Given the description of an element on the screen output the (x, y) to click on. 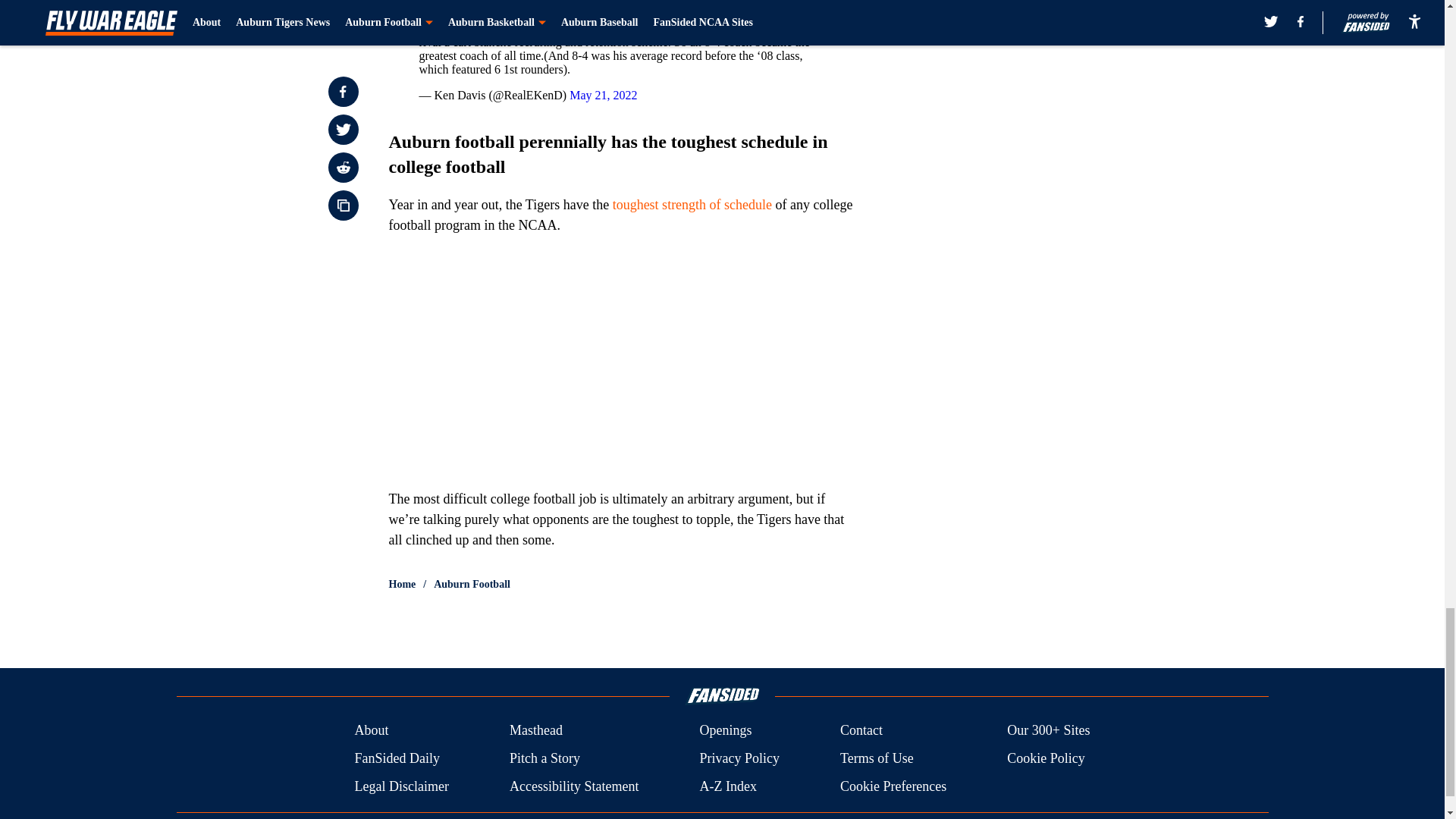
toughest strength of schedule (691, 204)
Openings (724, 730)
Contact (861, 730)
About (370, 730)
Masthead (535, 730)
Home (401, 584)
May 21, 2022 (603, 94)
Auburn Football (472, 584)
